Given the description of an element on the screen output the (x, y) to click on. 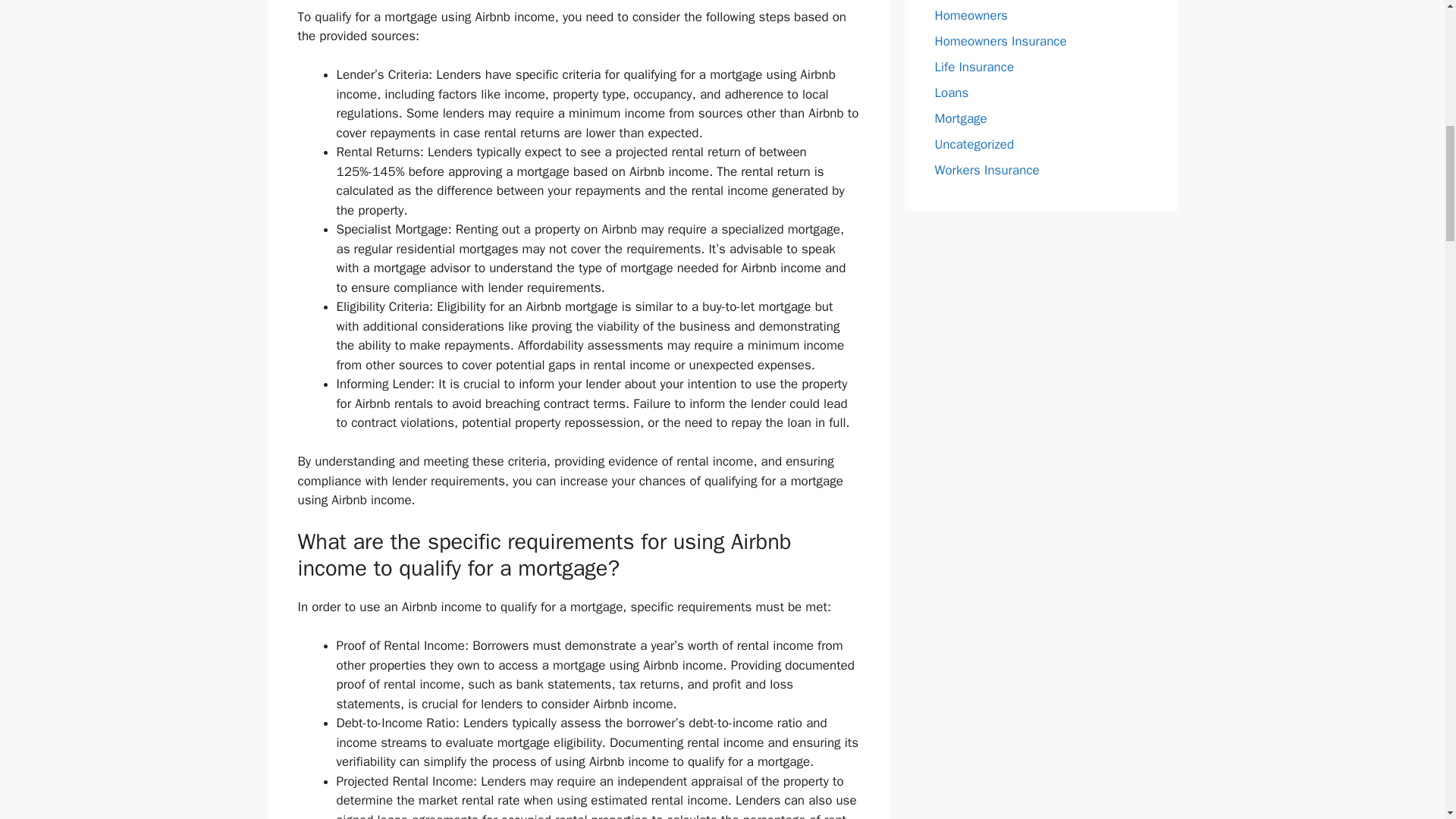
Life Insurance (973, 66)
Homeowners Insurance (999, 41)
Homeowners (970, 15)
